Given the description of an element on the screen output the (x, y) to click on. 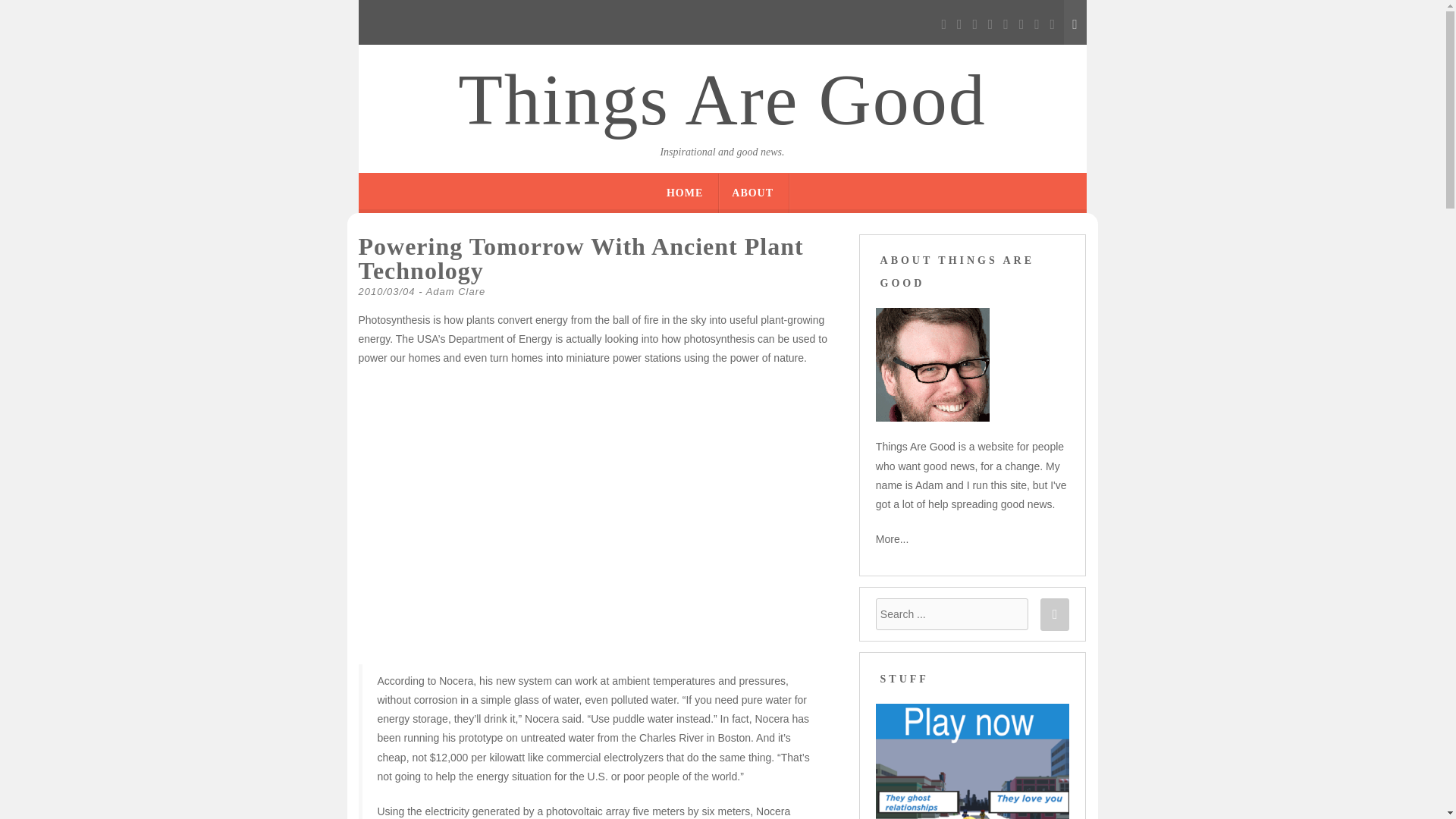
ABOUT (752, 192)
HOME (684, 192)
More... (892, 539)
Things Are Good (722, 99)
Adam Clare (456, 291)
